Given the description of an element on the screen output the (x, y) to click on. 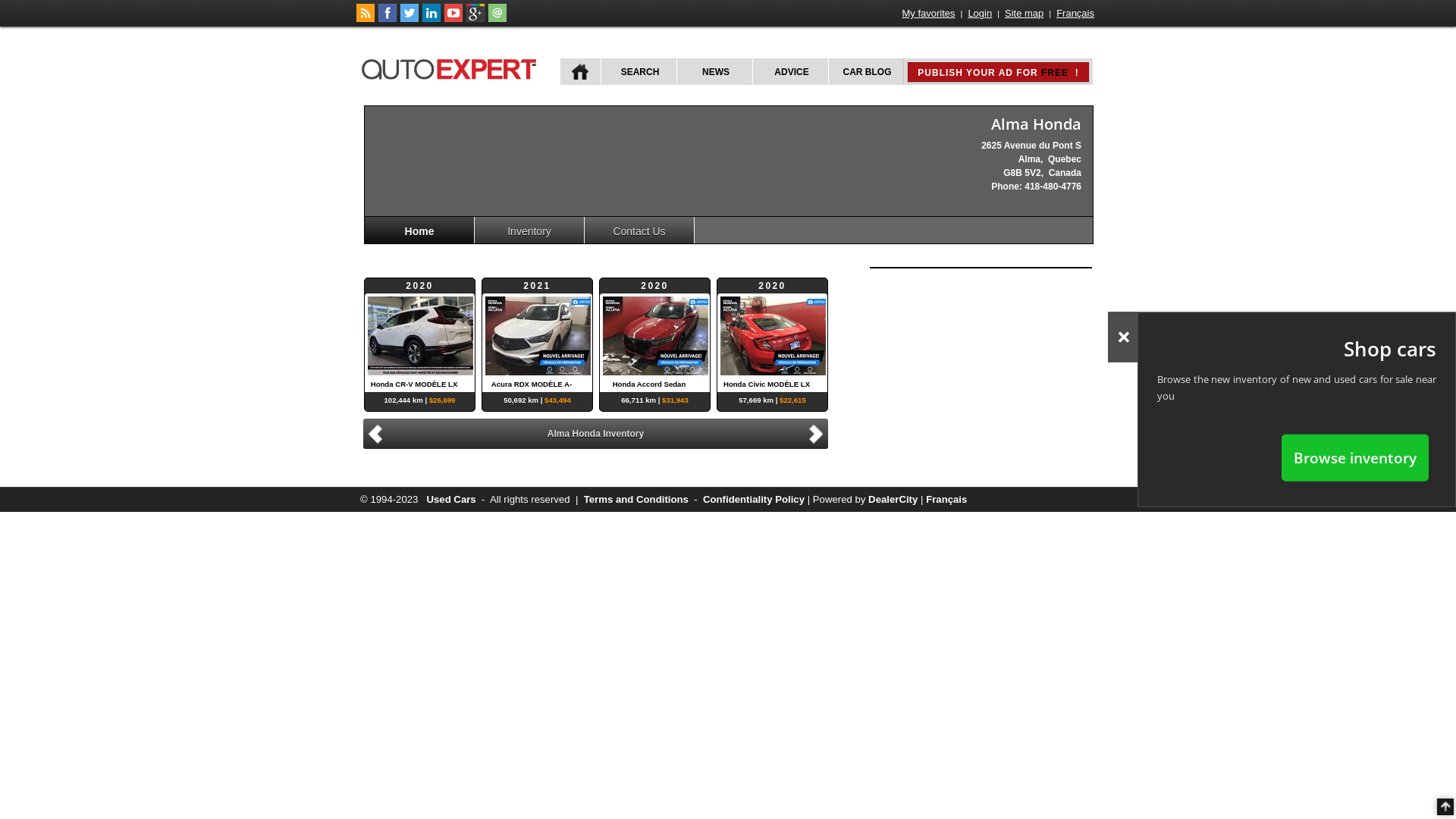
Confidentiality Policy Element type: text (753, 499)
Login Element type: text (979, 13)
Follow autoExpert.ca on Google Plus Element type: hover (475, 18)
CAR BLOG Element type: text (865, 71)
autoExpert.ca Element type: text (451, 66)
Terms and Conditions Element type: text (635, 499)
Browse inventory Element type: text (1354, 457)
Follow autoExpert.ca on Twitter Element type: hover (409, 18)
HOME Element type: text (580, 71)
My favorites Element type: text (928, 13)
PUBLISH YOUR AD FOR FREE  ! Element type: text (997, 71)
Follow autoExpert.ca on Facebook Element type: hover (387, 18)
Home Element type: text (419, 229)
Follow autoExpert.ca on Youtube Element type: hover (453, 18)
NEWS Element type: text (714, 71)
Inventory Element type: text (529, 229)
Contact autoExpert.ca Element type: hover (497, 18)
Next Element type: hover (818, 432)
Previous Element type: hover (373, 433)
Follow Publications Le Guide Inc. on LinkedIn Element type: hover (431, 18)
DealerCity Element type: text (892, 499)
Follow car news on autoExpert.ca Element type: hover (365, 18)
ADVICE Element type: text (790, 71)
Site map Element type: text (1023, 13)
Contact Us Element type: text (639, 229)
Used Cars Element type: text (450, 499)
SEARCH Element type: text (638, 71)
